Given the description of an element on the screen output the (x, y) to click on. 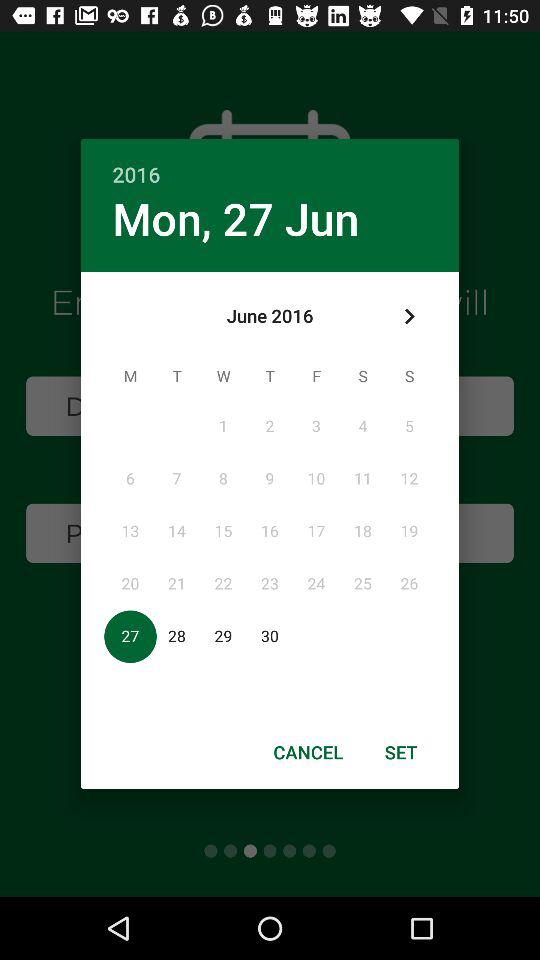
press icon at the top right corner (408, 316)
